Given the description of an element on the screen output the (x, y) to click on. 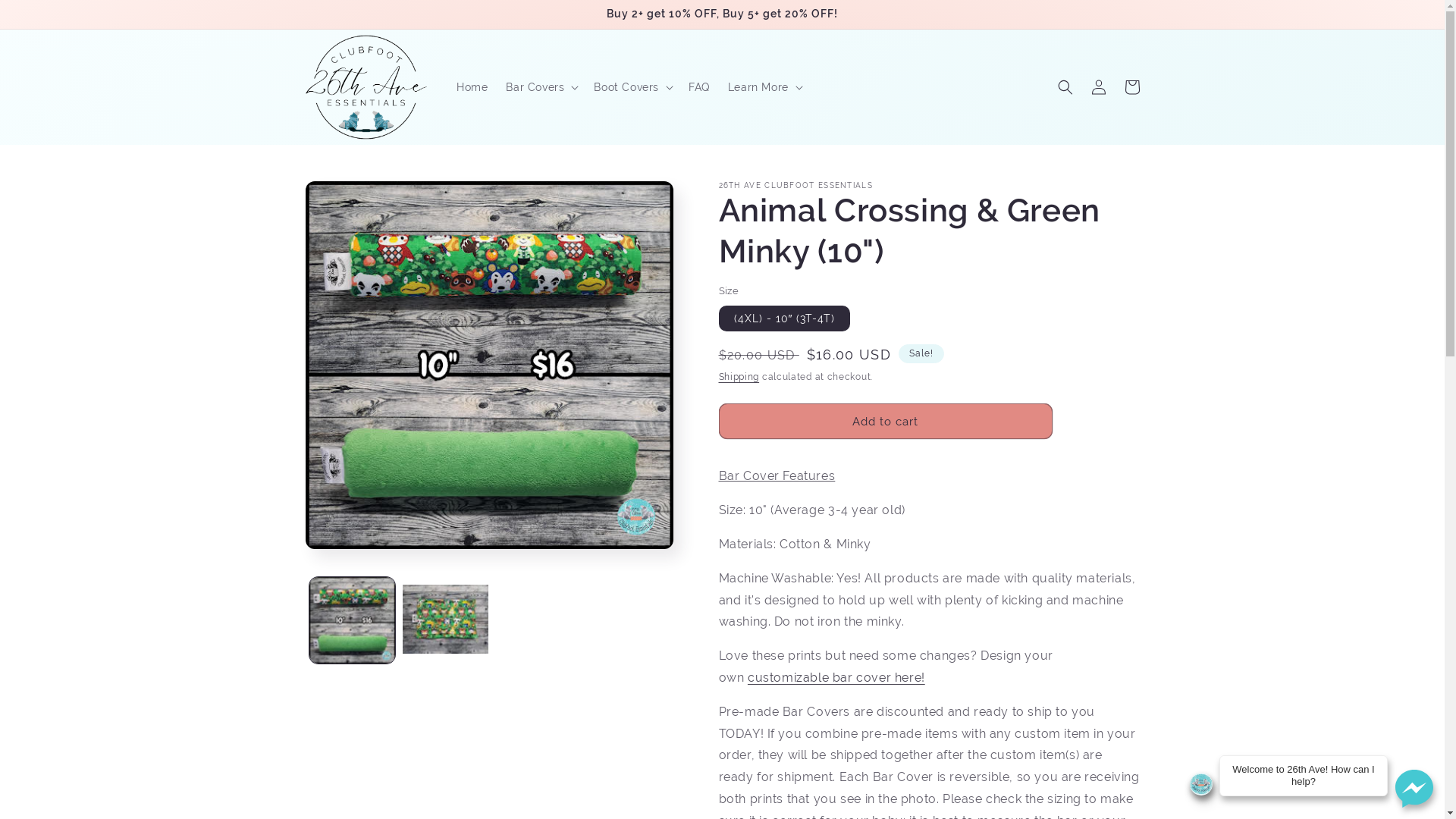
Shipping Element type: text (738, 376)
Add to cart Element type: text (885, 421)
FAQ Element type: text (698, 87)
customizable bar cover here! Element type: text (836, 677)
Skip to product information Element type: text (350, 198)
Log in Element type: text (1097, 86)
Cart Element type: text (1131, 86)
Home Element type: text (471, 87)
